Given the description of an element on the screen output the (x, y) to click on. 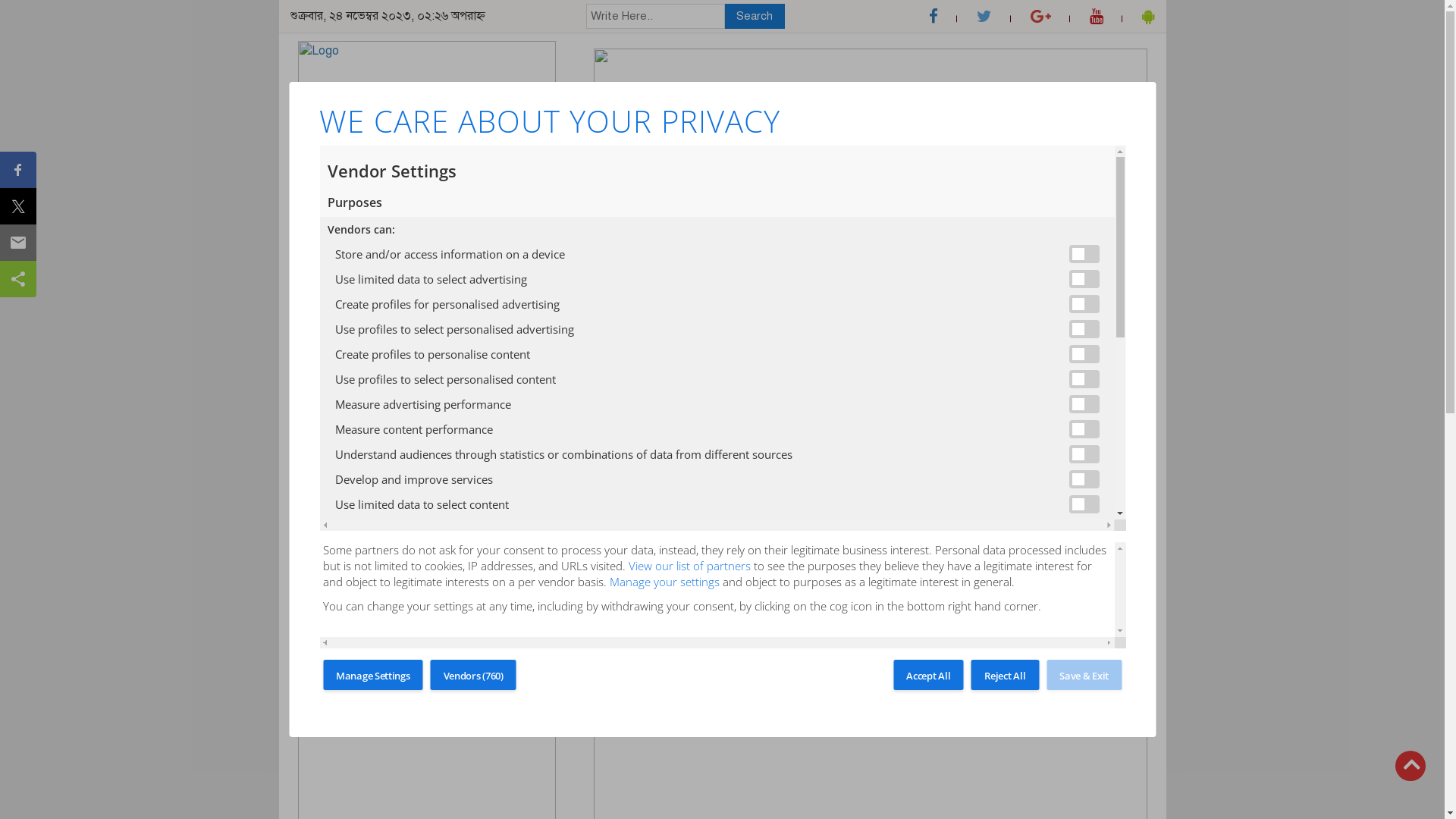
Search Element type: text (754, 15)
View our list of partners Element type: text (689, 565)
Manage your settings Element type: text (664, 581)
